Given the description of an element on the screen output the (x, y) to click on. 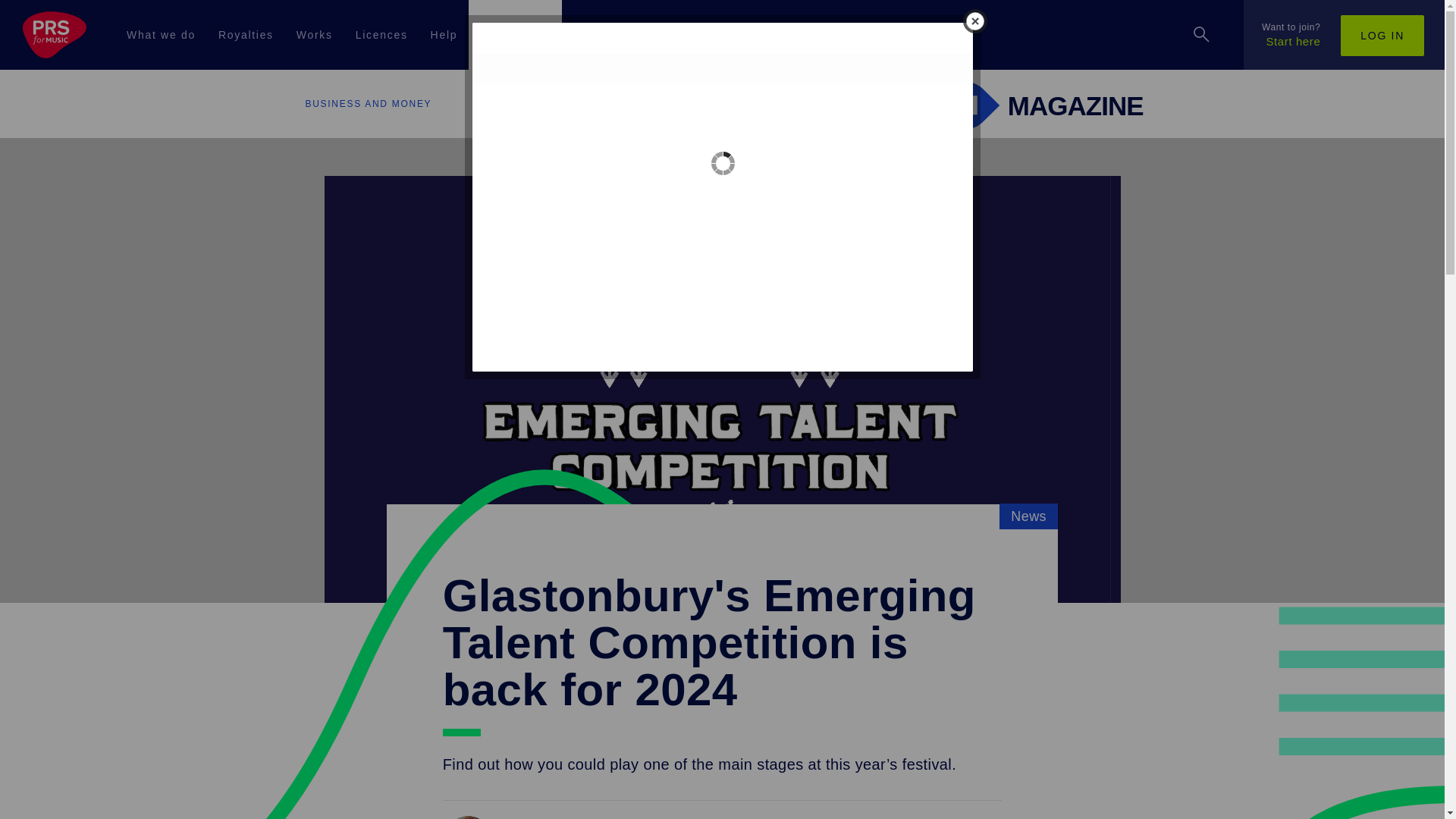
Contact us (793, 637)
Help (443, 34)
Twitter (382, 718)
Linked In (720, 718)
PRS for Music (57, 34)
Twitter (381, 720)
Search (1200, 34)
PRS for Music (721, 565)
Search (1374, 104)
Licences (381, 34)
